Given the description of an element on the screen output the (x, y) to click on. 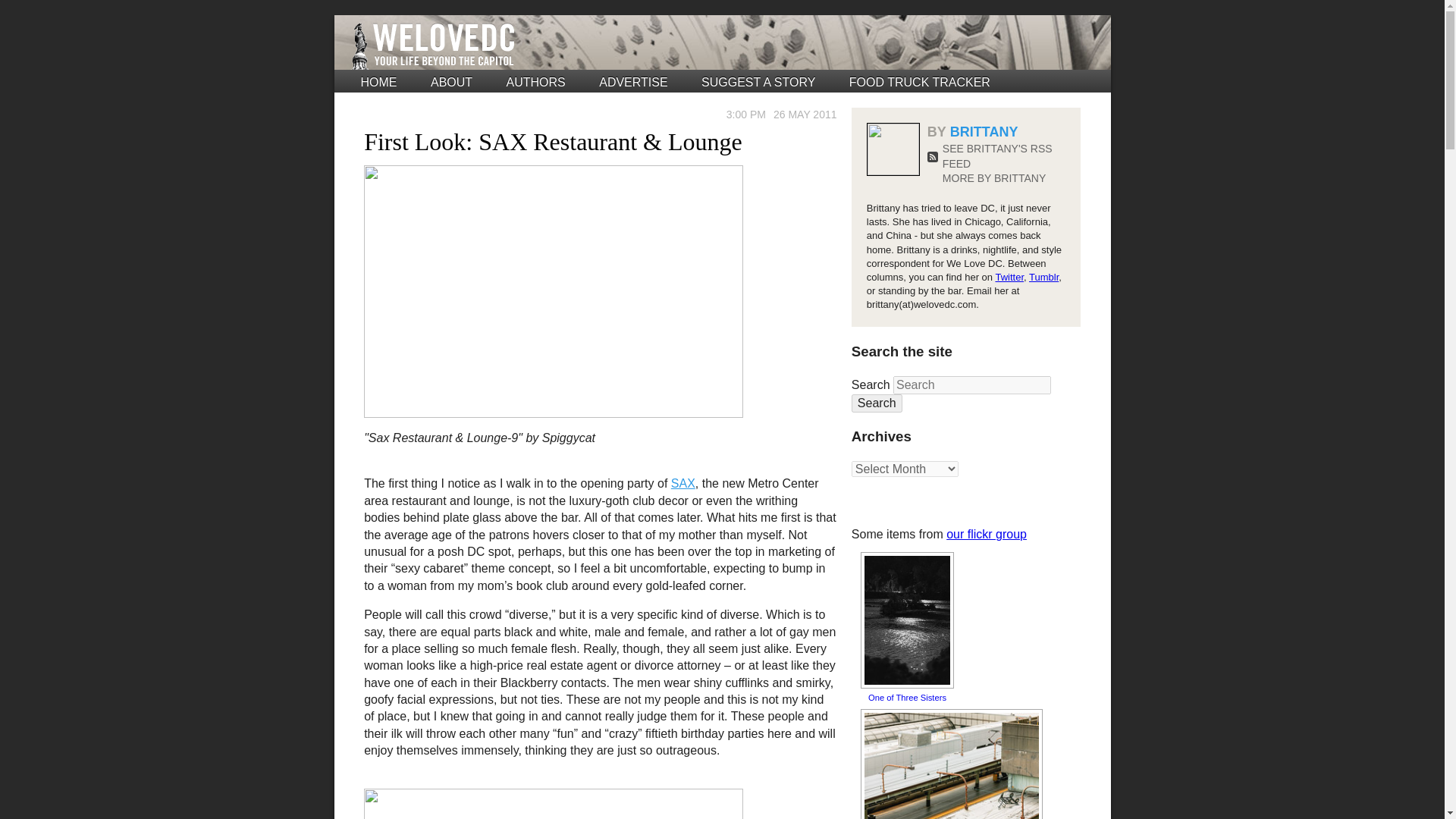
AUTHORS (536, 82)
HOME (379, 82)
SAX (683, 482)
ABOUT (450, 82)
ADVERTISE (632, 82)
